Given the description of an element on the screen output the (x, y) to click on. 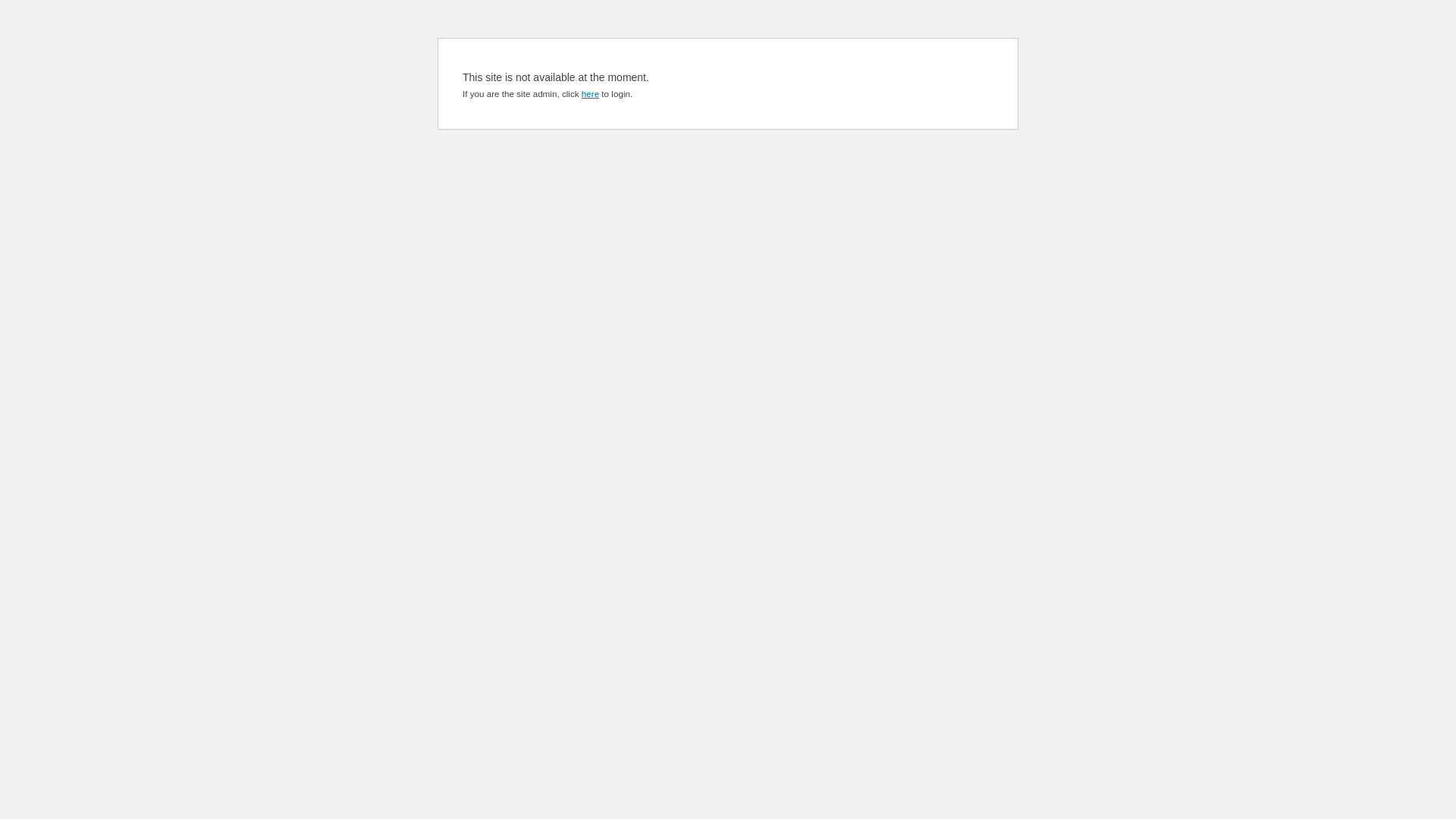
here Element type: text (590, 93)
